Given the description of an element on the screen output the (x, y) to click on. 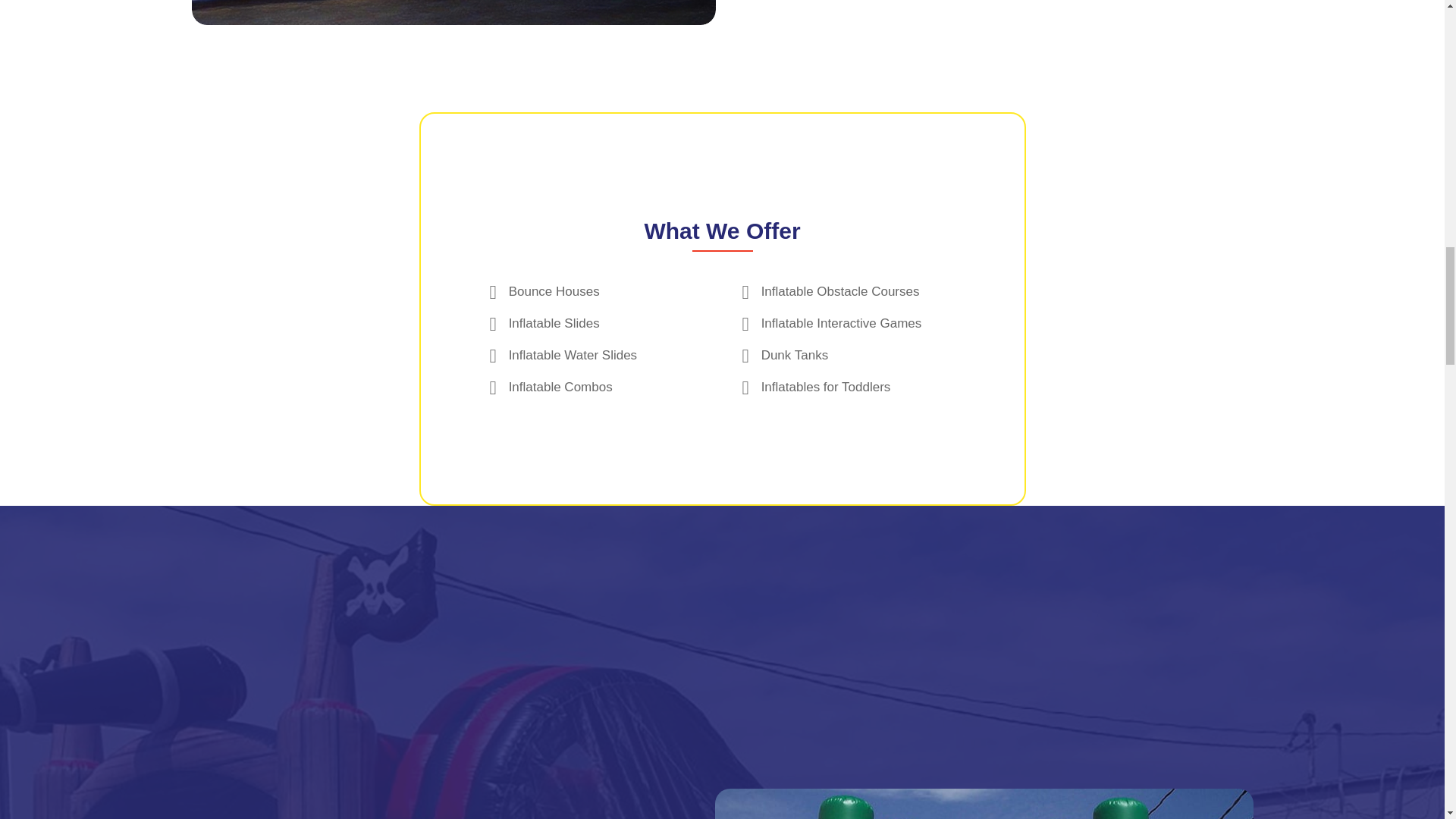
Jump O'Rama (983, 803)
